Given the description of an element on the screen output the (x, y) to click on. 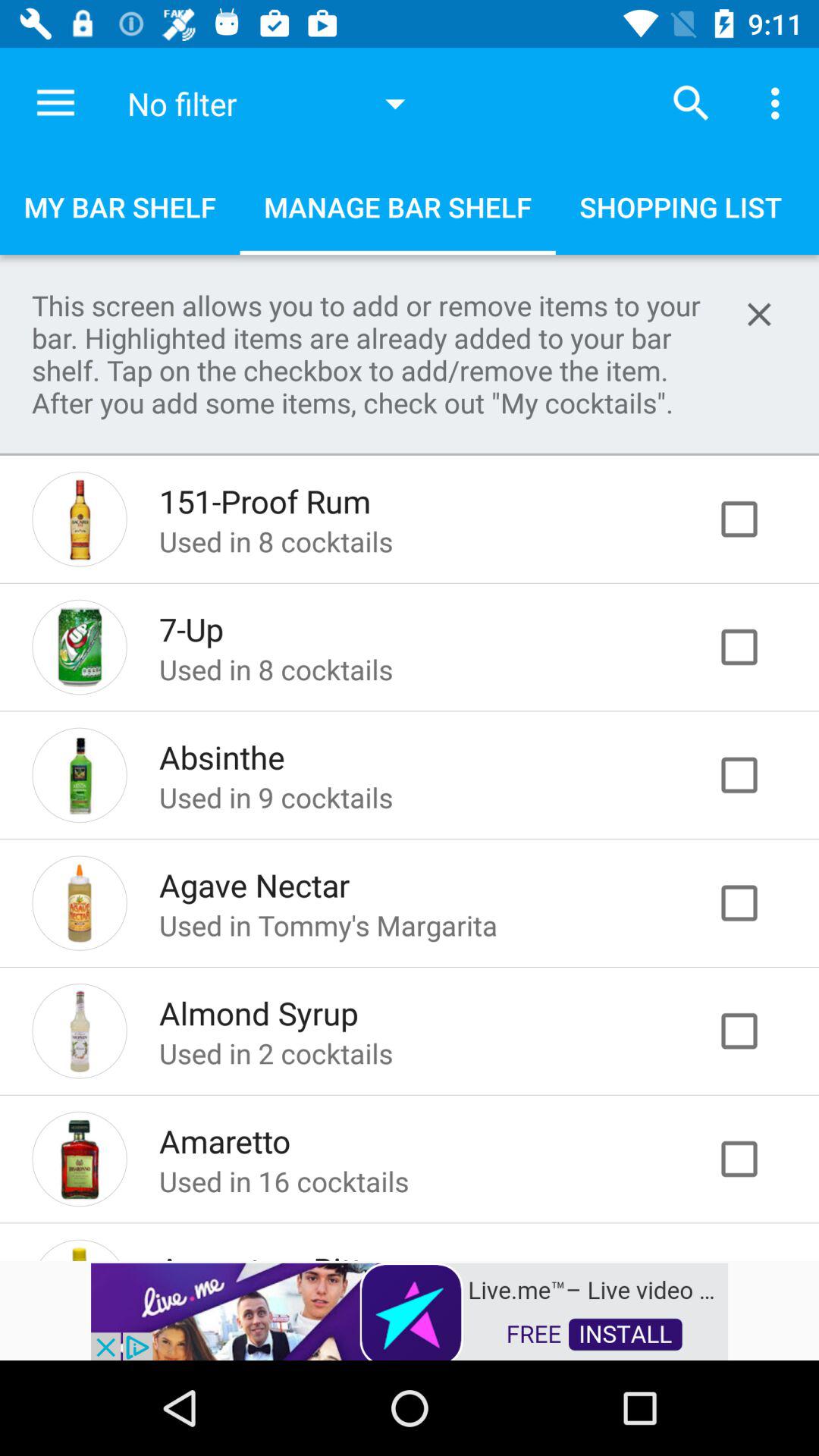
click box (755, 774)
